Given the description of an element on the screen output the (x, y) to click on. 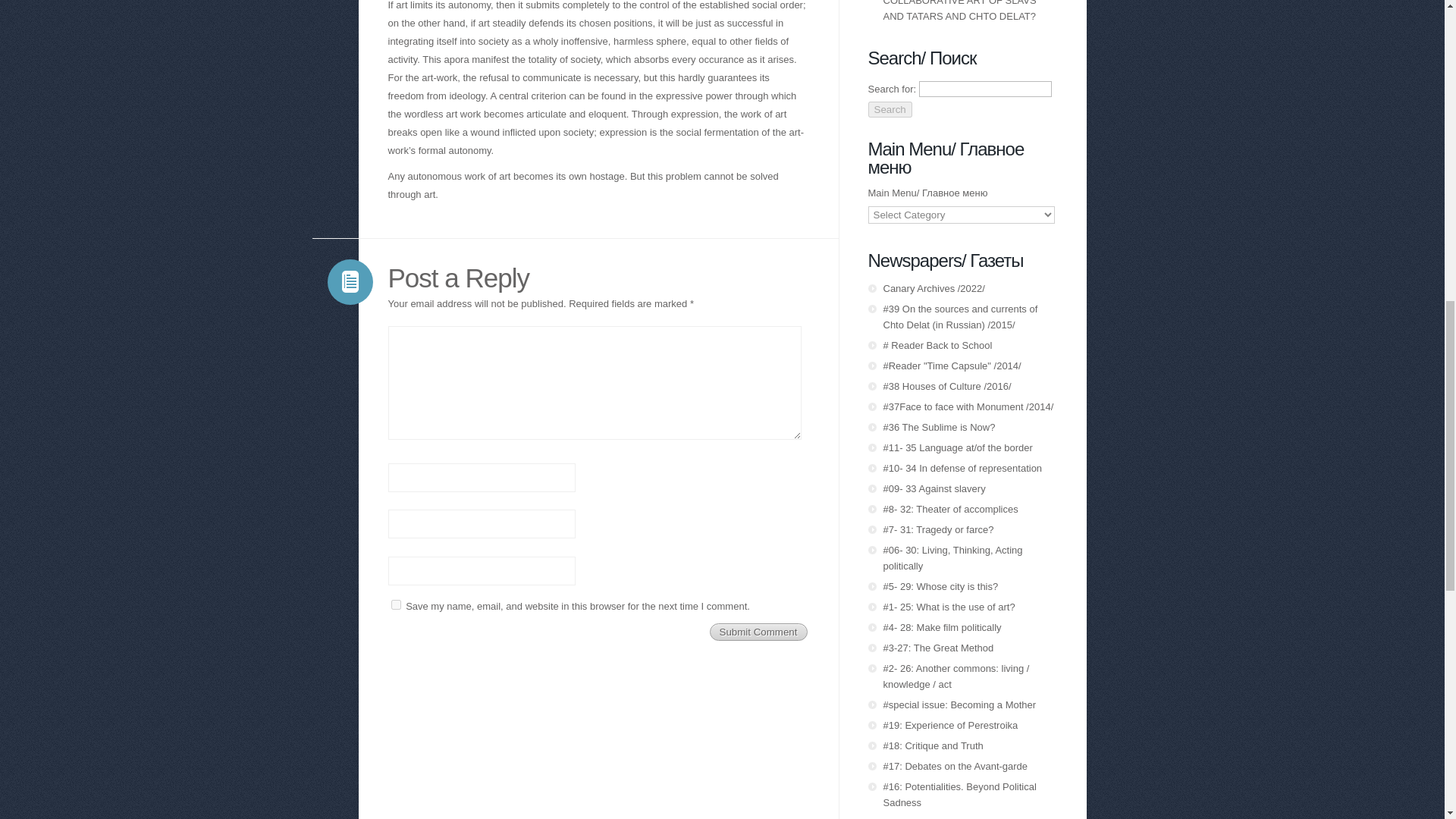
yes (396, 604)
Submit Comment (759, 631)
Search (889, 109)
Submit Comment (759, 631)
